Given the description of an element on the screen output the (x, y) to click on. 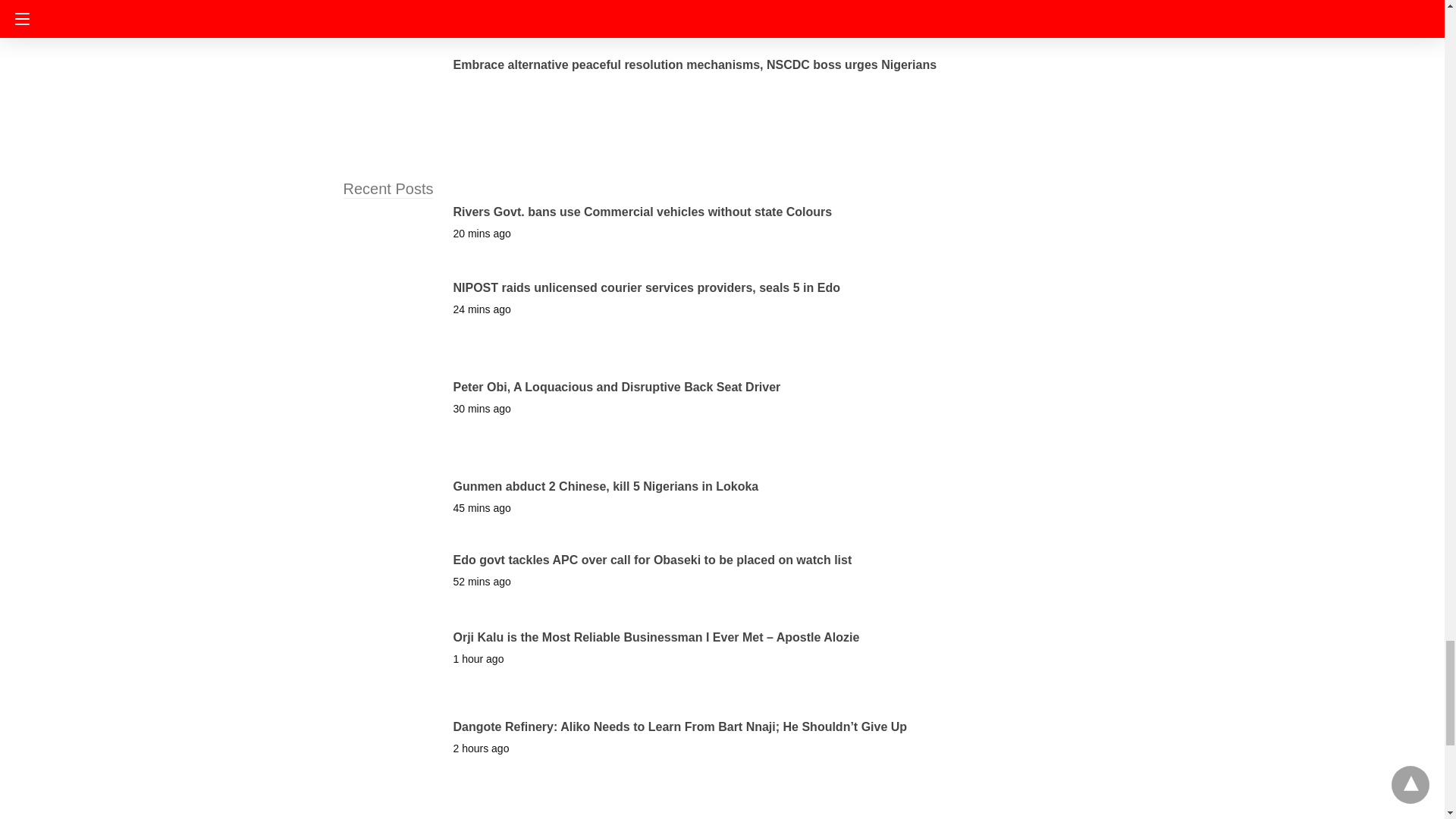
Gunmen abduct 2 Chinese, kill 5 Nigerians in Lokoka (605, 486)
Gunmen abduct 2 Chinese, kill 5 Nigerians in Lokoka (605, 486)
Peter Obi, A Loquacious and Disruptive Back Seat Driver (616, 386)
Peter Obi, A Loquacious and Disruptive Back Seat Driver (616, 386)
